Given the description of an element on the screen output the (x, y) to click on. 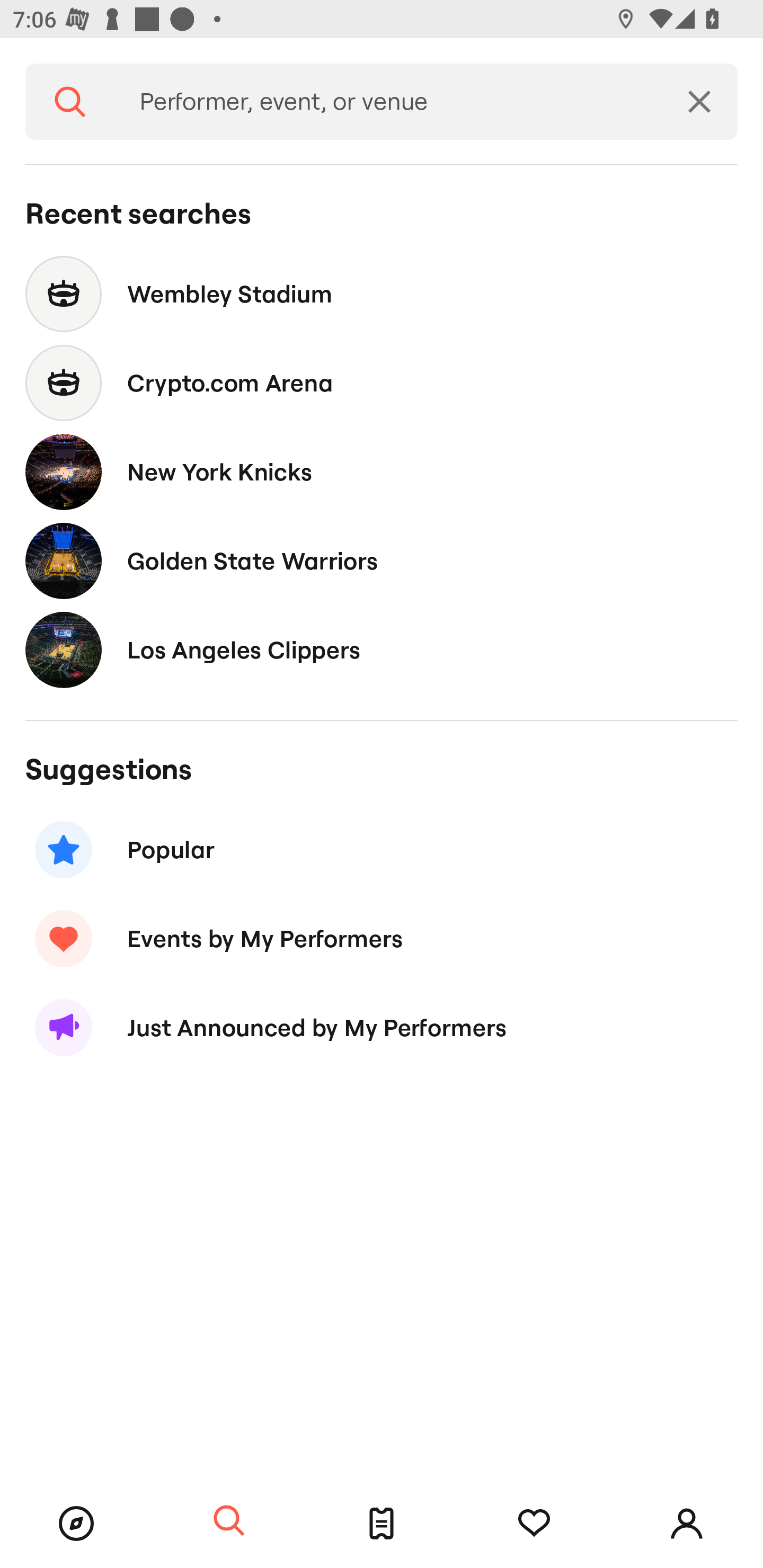
Search (69, 101)
Performer, event, or venue (387, 101)
Clear (699, 101)
Wembley Stadium (381, 293)
Crypto.com Arena (381, 383)
New York Knicks (381, 471)
Golden State Warriors (381, 560)
Los Angeles Clippers (381, 649)
Popular (381, 849)
Events by My Performers (381, 938)
Just Announced by My Performers (381, 1027)
Browse (76, 1523)
Search (228, 1521)
Tickets (381, 1523)
Tracking (533, 1523)
Account (686, 1523)
